Given the description of an element on the screen output the (x, y) to click on. 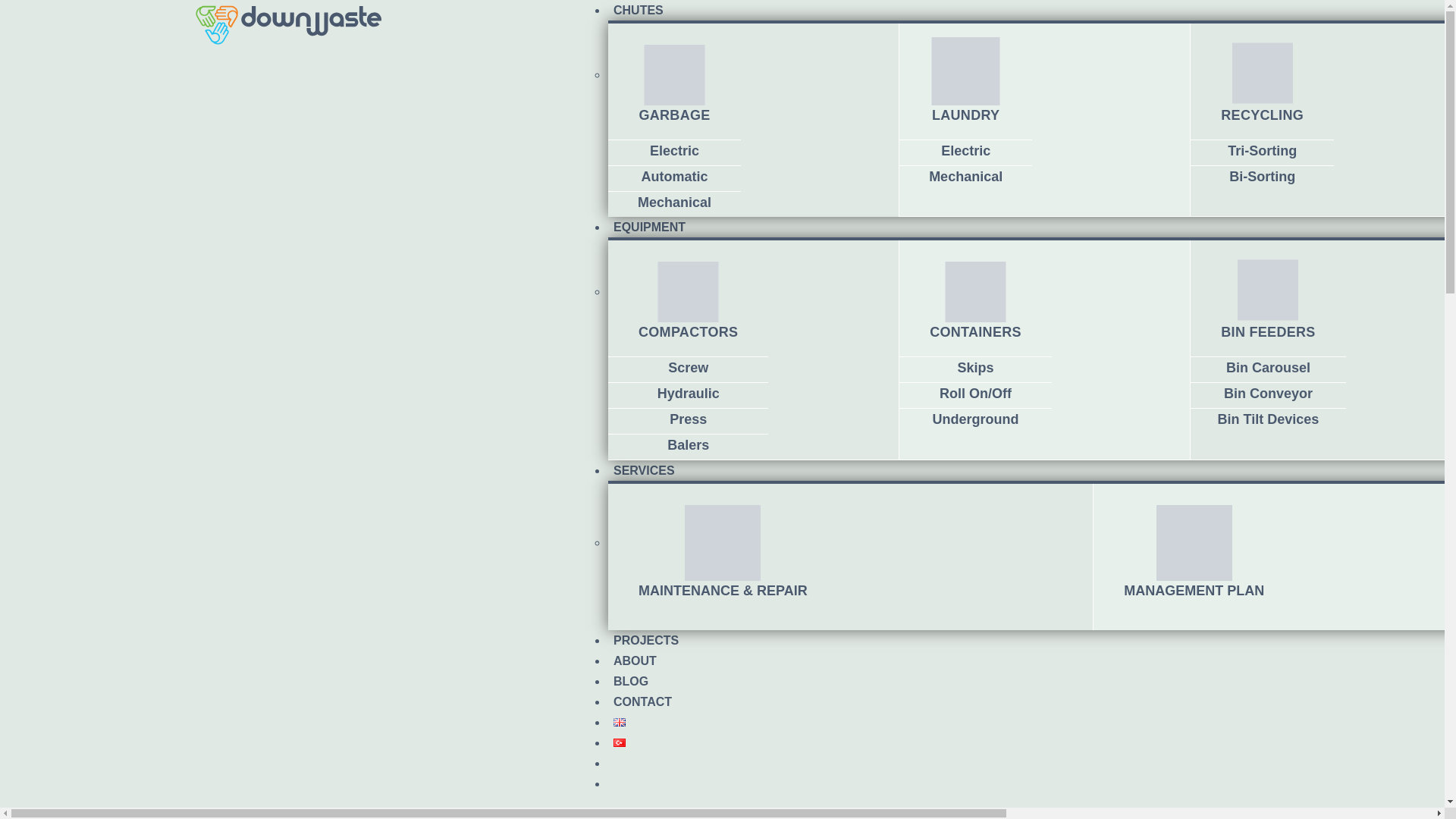
Contact (642, 699)
Electric (673, 151)
Mechanical (965, 176)
Blog (630, 679)
EQUIPMENT (649, 224)
Bi-Sorting (1261, 176)
PROJECTS (646, 638)
EQUIPMENT (649, 224)
Bin Tilt Devices (1268, 418)
Underground (974, 418)
SERVICES (643, 468)
CHUTES (638, 12)
ABOUT (635, 658)
Press (687, 418)
Hydraulic (688, 393)
